Given the description of an element on the screen output the (x, y) to click on. 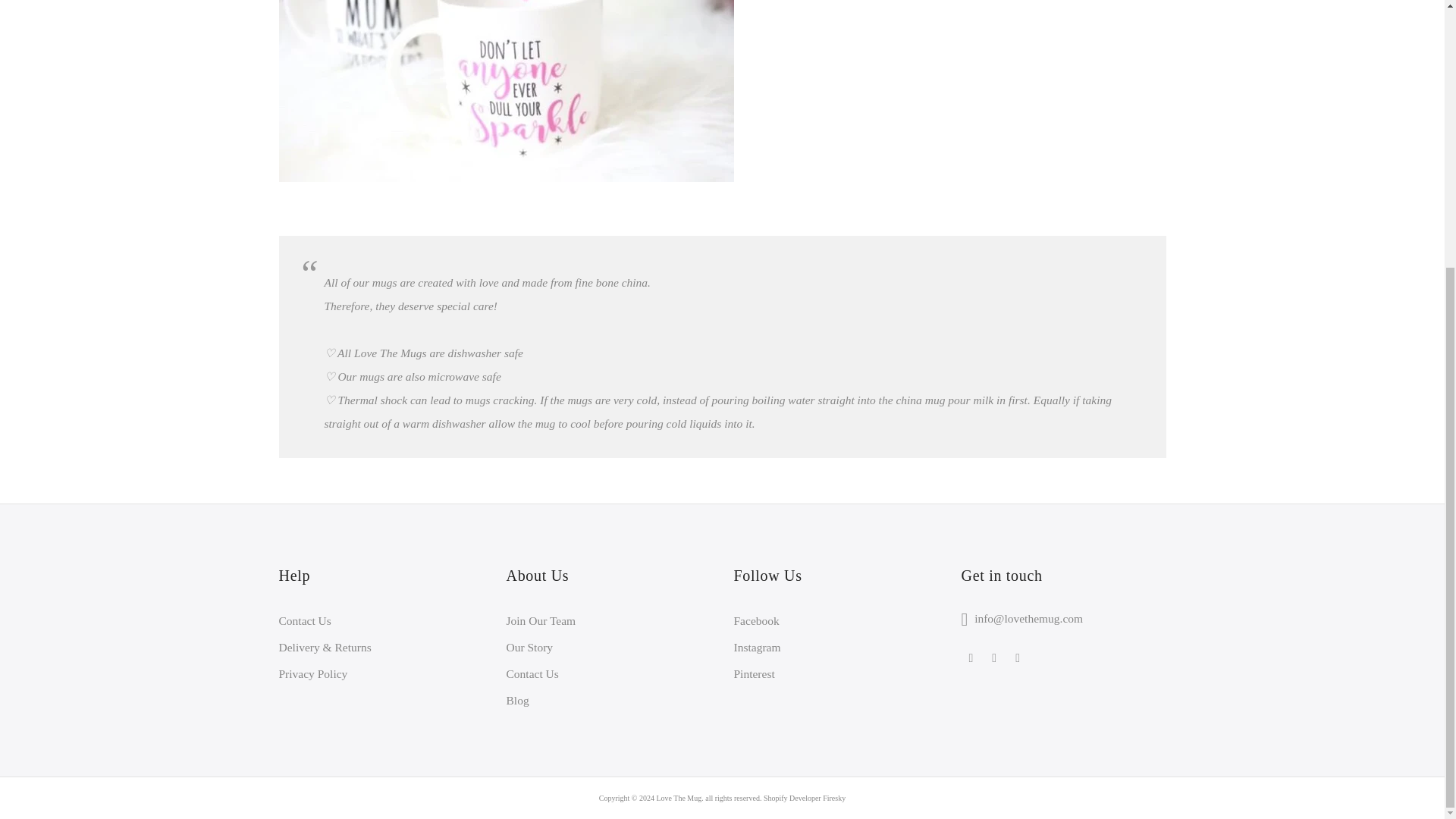
Blog (517, 699)
Join Our Team (541, 620)
Instagram (756, 646)
Facebook (755, 620)
Contact Us (532, 673)
Our Story (529, 646)
Firesky (833, 797)
Pinterest (753, 673)
Contact Us (305, 620)
Privacy Policy (313, 673)
